Given the description of an element on the screen output the (x, y) to click on. 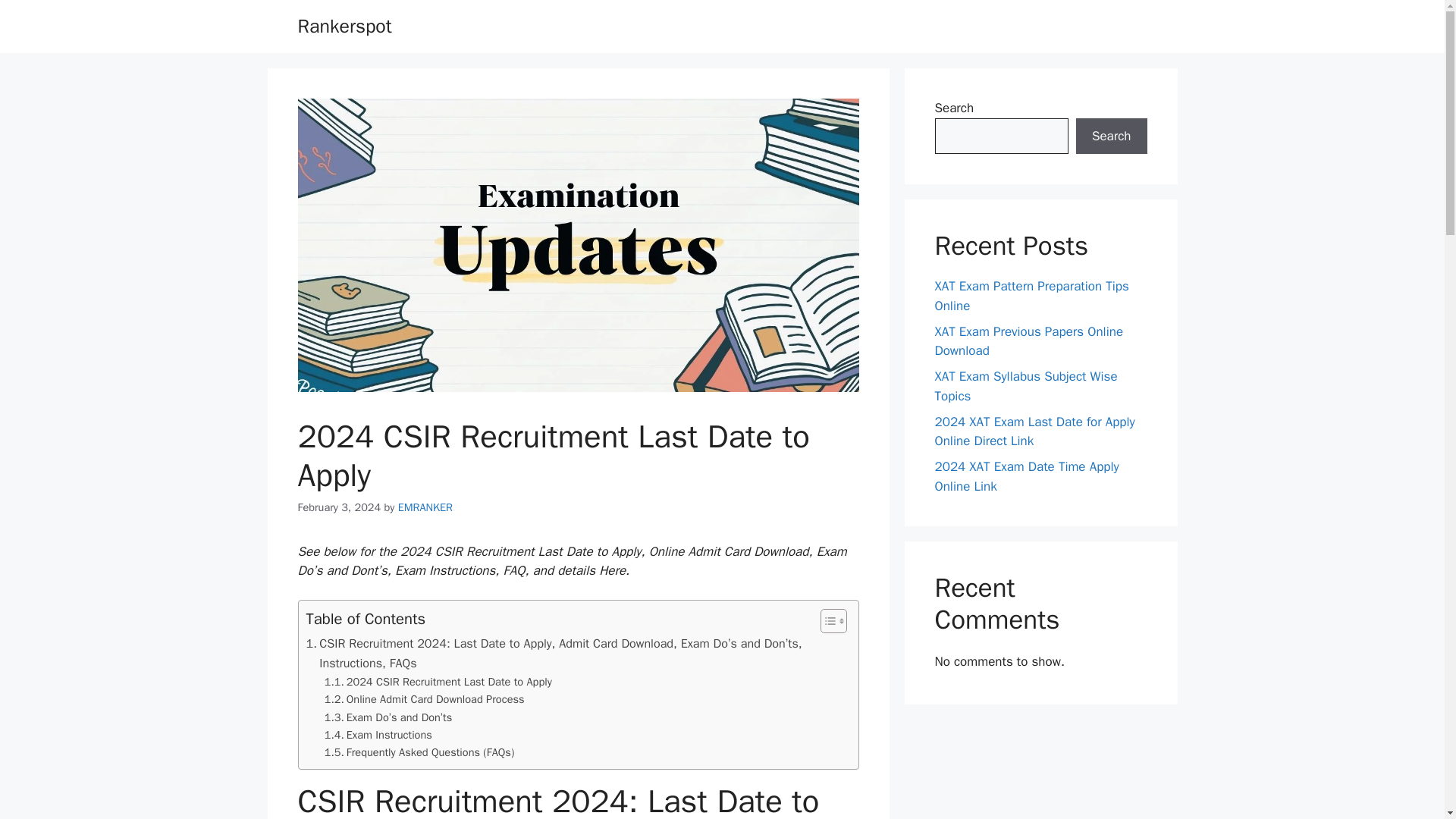
View all posts by EMRANKER (424, 507)
Rankerspot (344, 25)
XAT Exam Pattern Preparation Tips Online (1031, 295)
XAT Exam Previous Papers Online Download (1028, 340)
2024 CSIR Recruitment Last Date to Apply (437, 682)
2024 XAT Exam Date Time Apply Online Link (1026, 476)
Online Admit Card Download Process (424, 699)
Search (1111, 135)
2024 CSIR Recruitment Last Date to Apply (437, 682)
Exam Instructions (378, 734)
2024 XAT Exam Last Date for Apply Online Direct Link (1034, 431)
XAT Exam Syllabus Subject Wise Topics (1025, 386)
EMRANKER (424, 507)
Online Admit Card Download Process (424, 699)
Exam Instructions (378, 734)
